Given the description of an element on the screen output the (x, y) to click on. 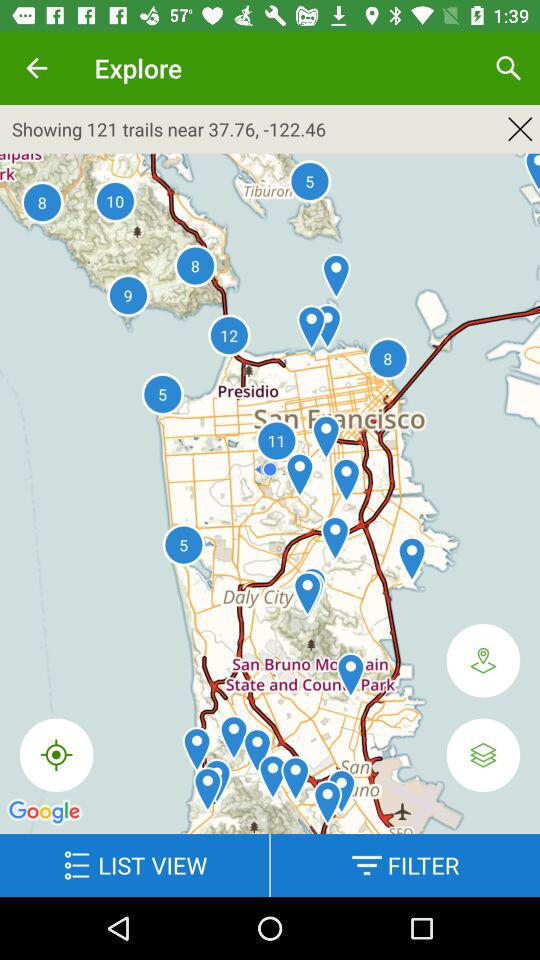
turn off icon at the center (270, 500)
